Given the description of an element on the screen output the (x, y) to click on. 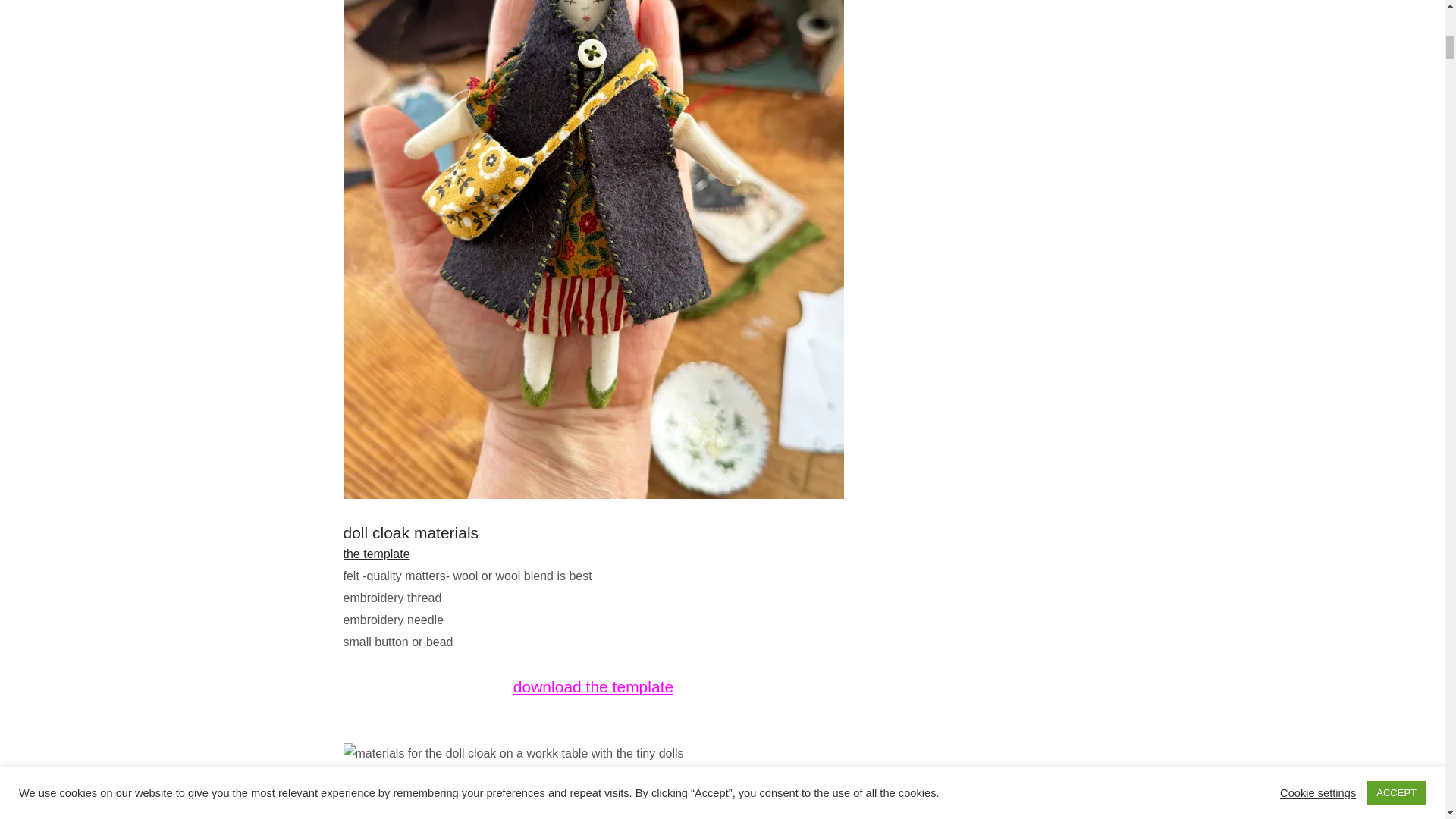
the template (375, 553)
